Given the description of an element on the screen output the (x, y) to click on. 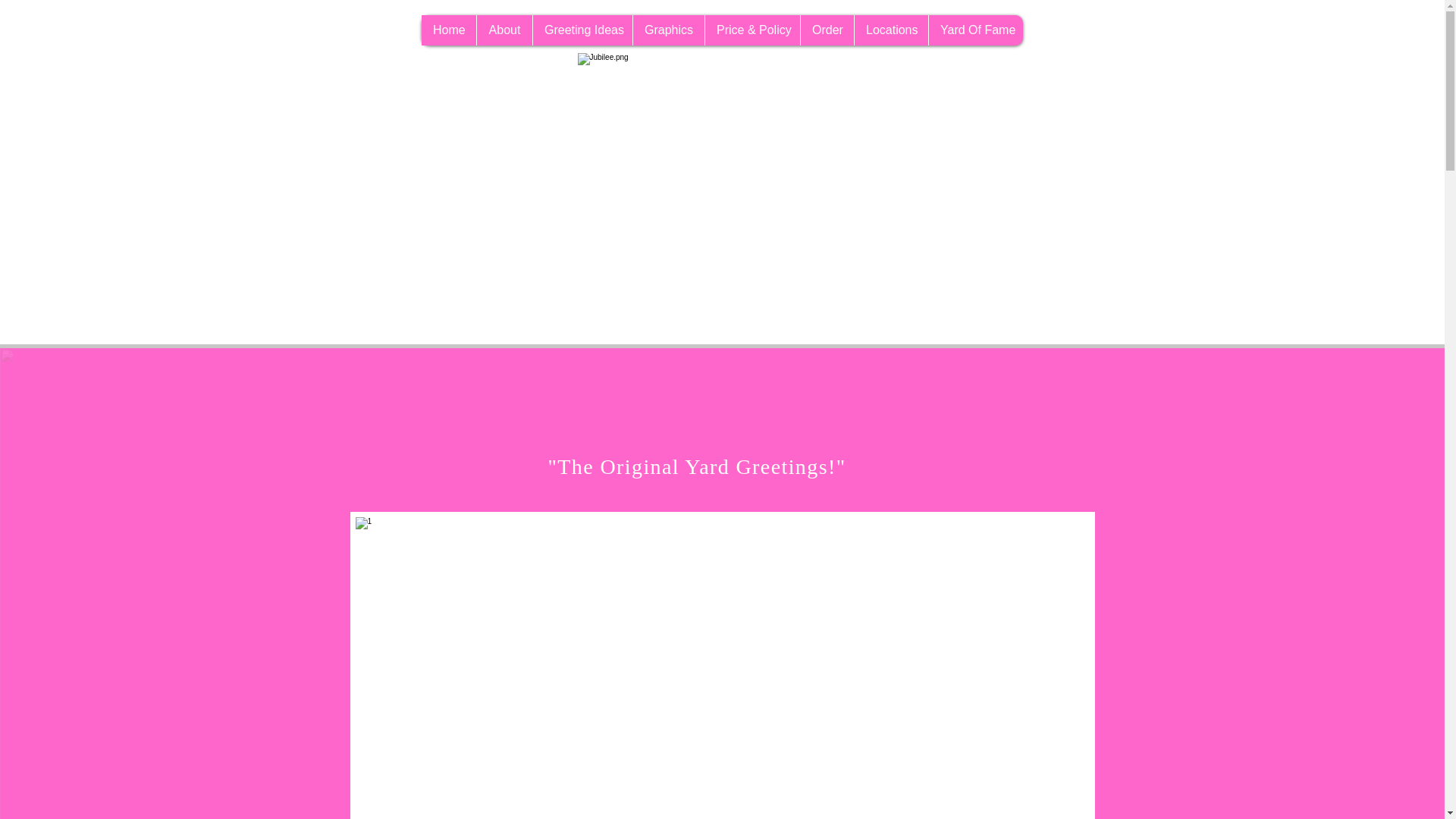
Home (449, 30)
Yard Of Fame (975, 30)
Greeting Ideas (581, 30)
About (504, 30)
Graphics (667, 30)
Order (826, 30)
Locations (890, 30)
